Given the description of an element on the screen output the (x, y) to click on. 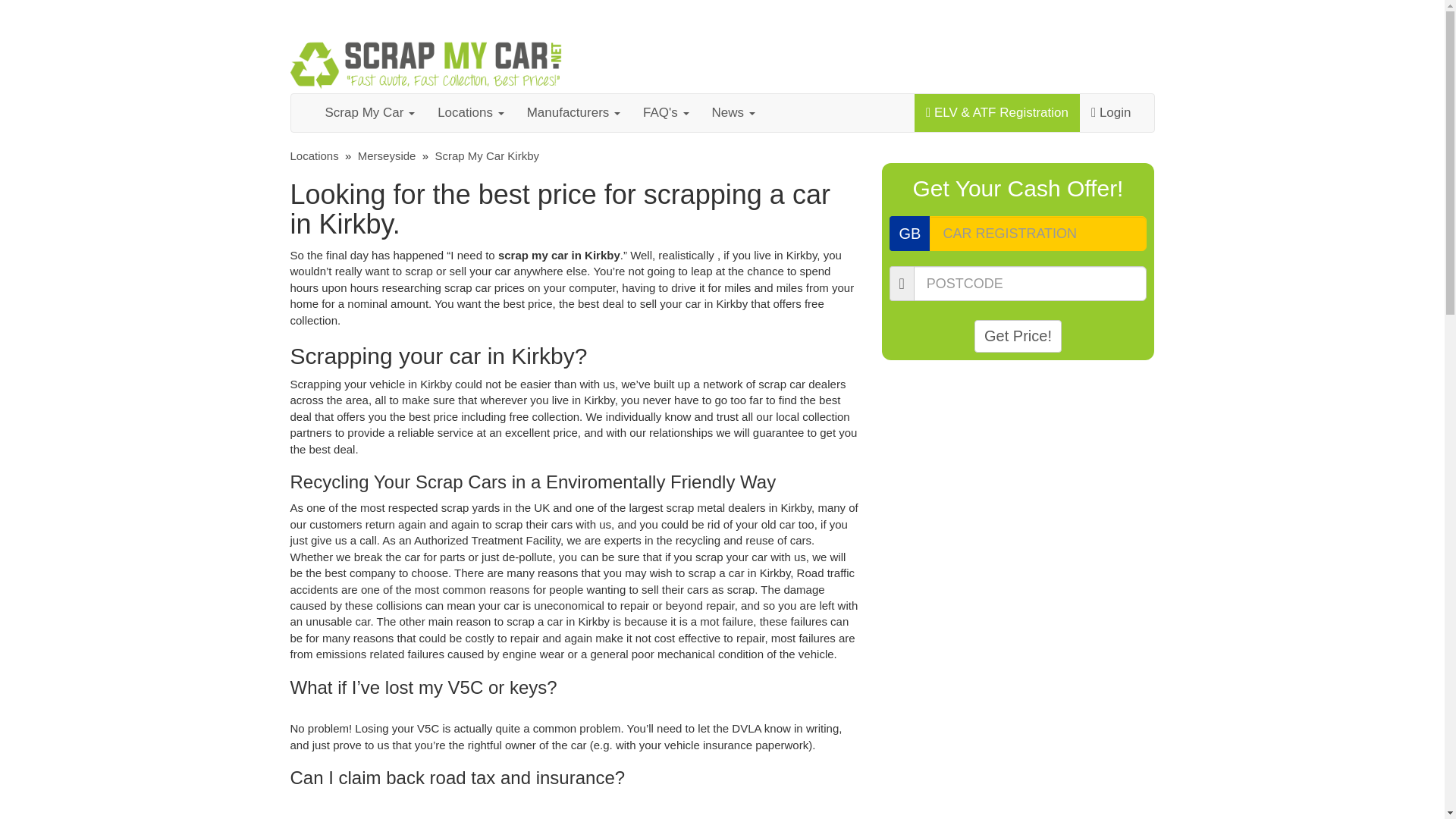
Login (1111, 112)
Get Price! (1017, 336)
Scrap My Car Merseyside (387, 155)
Locations (313, 155)
Scrap My Car Kirkby (485, 155)
News (733, 112)
Locations (470, 112)
Scrap My Car (370, 112)
Scrap My Car Locations (313, 155)
Merseyside (387, 155)
FAQ's (665, 112)
Scrap My Car Kirkby (485, 155)
Manufacturers (573, 112)
